Given the description of an element on the screen output the (x, y) to click on. 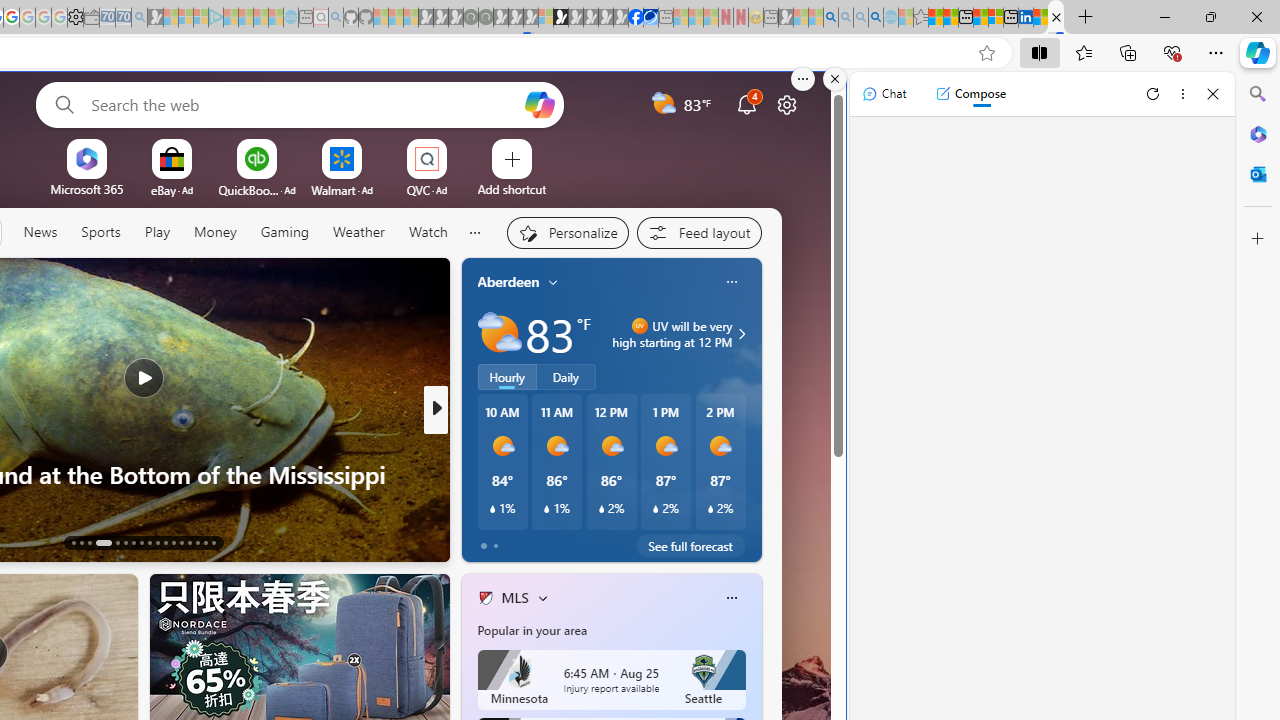
AutomationID: tab-27 (197, 542)
View comments 543 Comment (567, 541)
MLS (514, 597)
Bing AI - Search (831, 17)
View comments 10 Comment (582, 541)
Class: weather-arrow-glyph (742, 333)
